Given the description of an element on the screen output the (x, y) to click on. 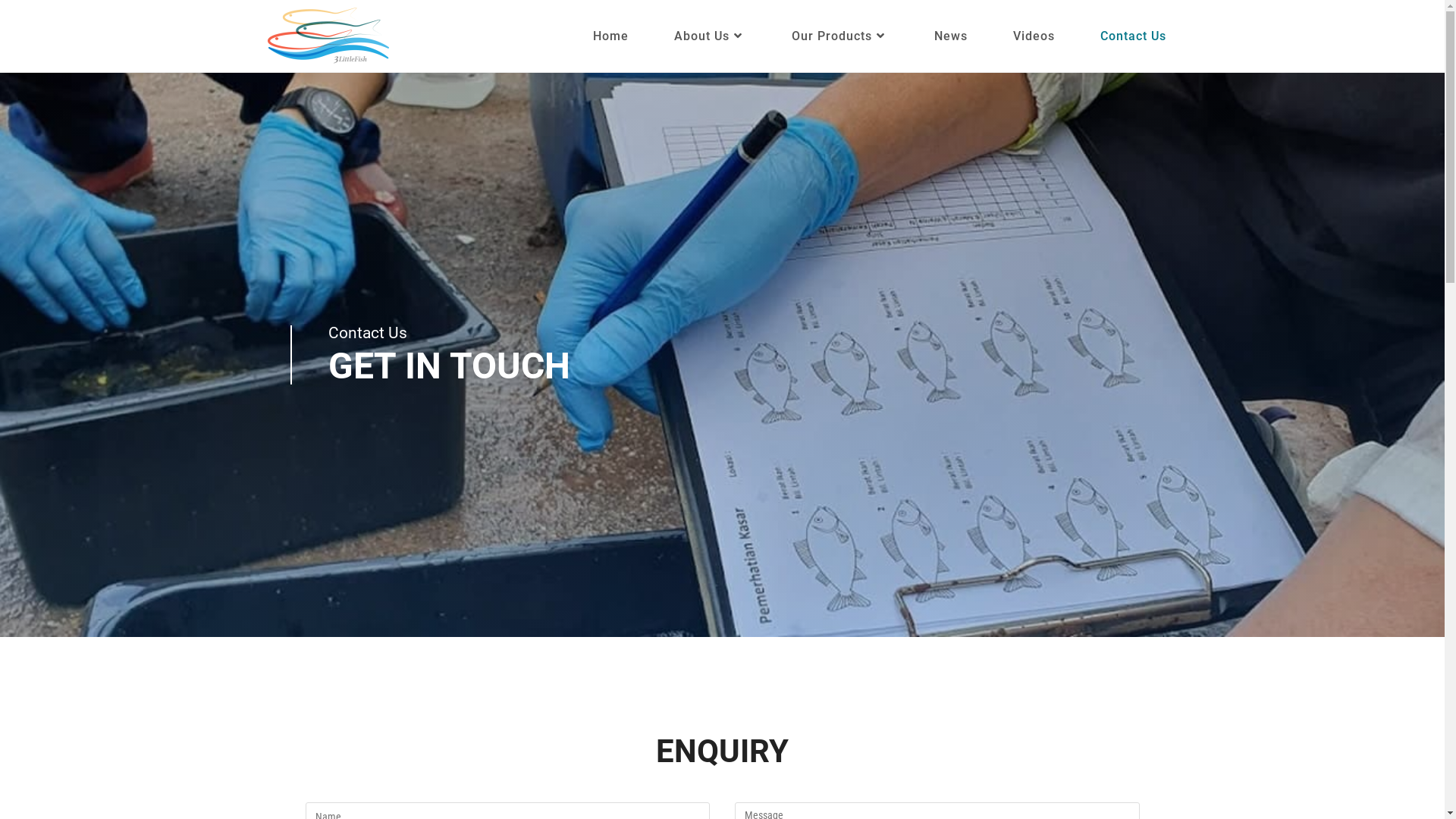
News Element type: text (950, 36)
Contact Us Element type: text (1132, 36)
Home Element type: text (610, 36)
Videos Element type: text (1033, 36)
Our Products Element type: text (839, 36)
About Us Element type: text (709, 36)
